Given the description of an element on the screen output the (x, y) to click on. 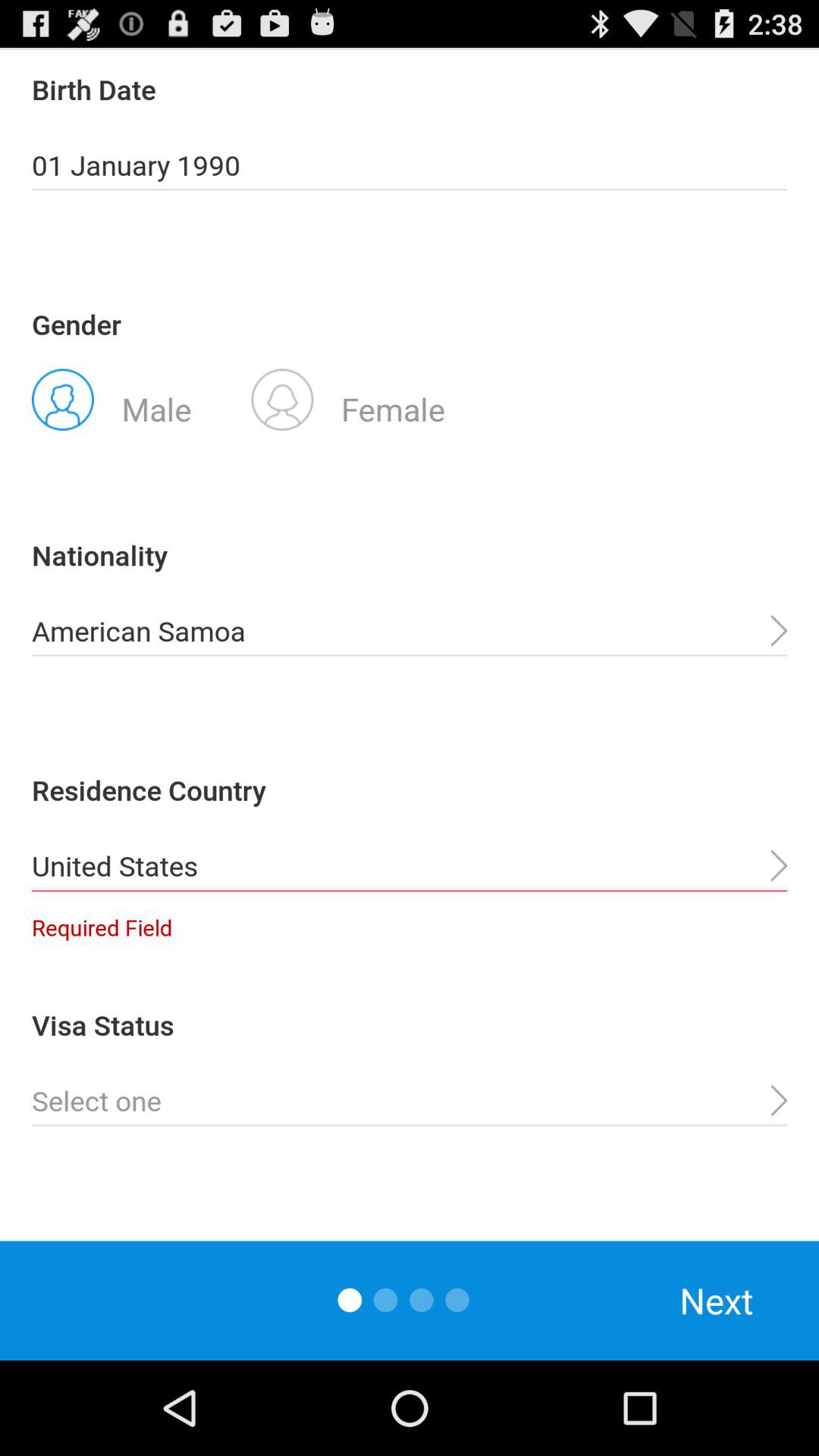
launch male radio button (111, 398)
